Given the description of an element on the screen output the (x, y) to click on. 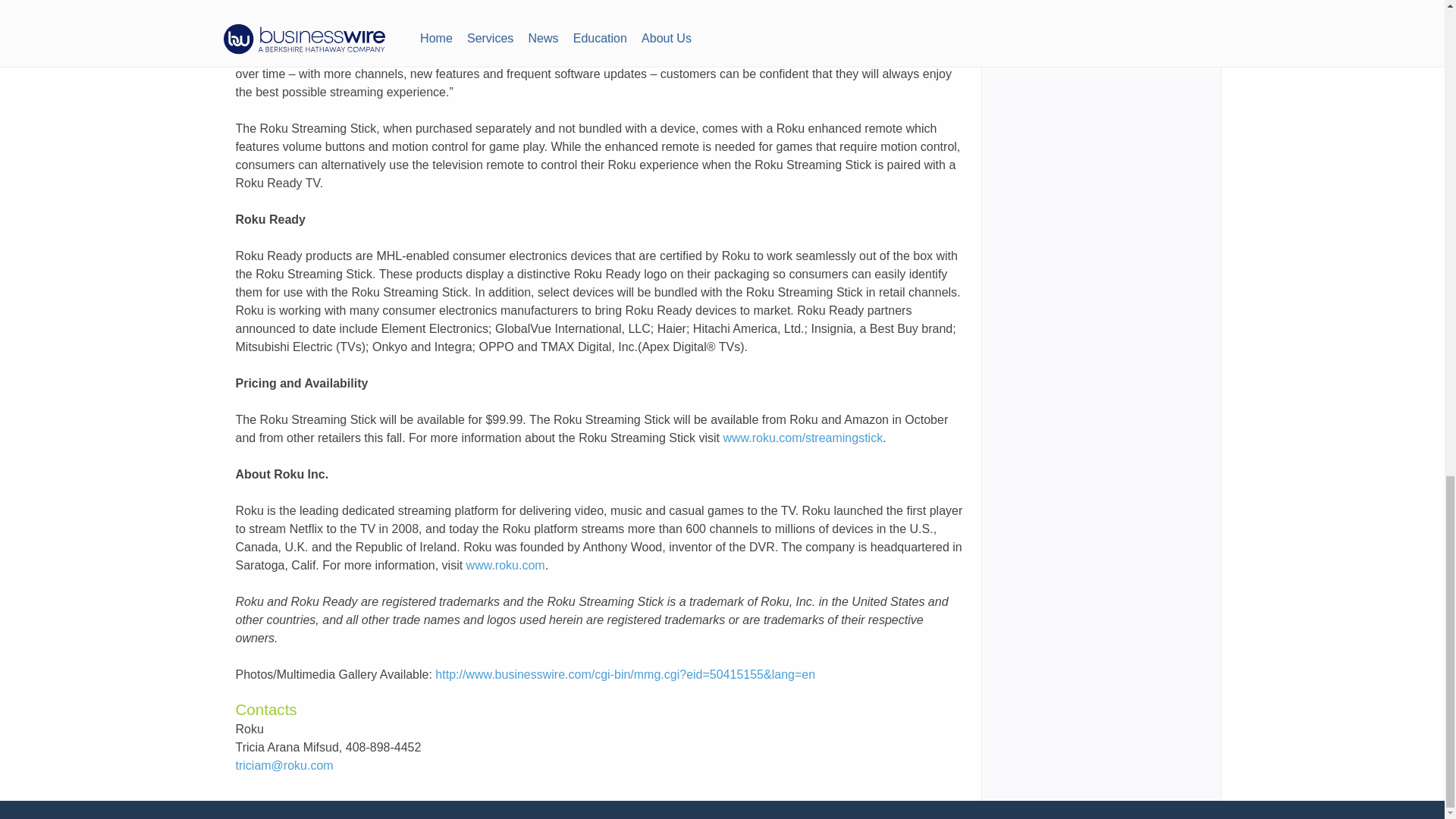
www.roku.com (504, 564)
